Given the description of an element on the screen output the (x, y) to click on. 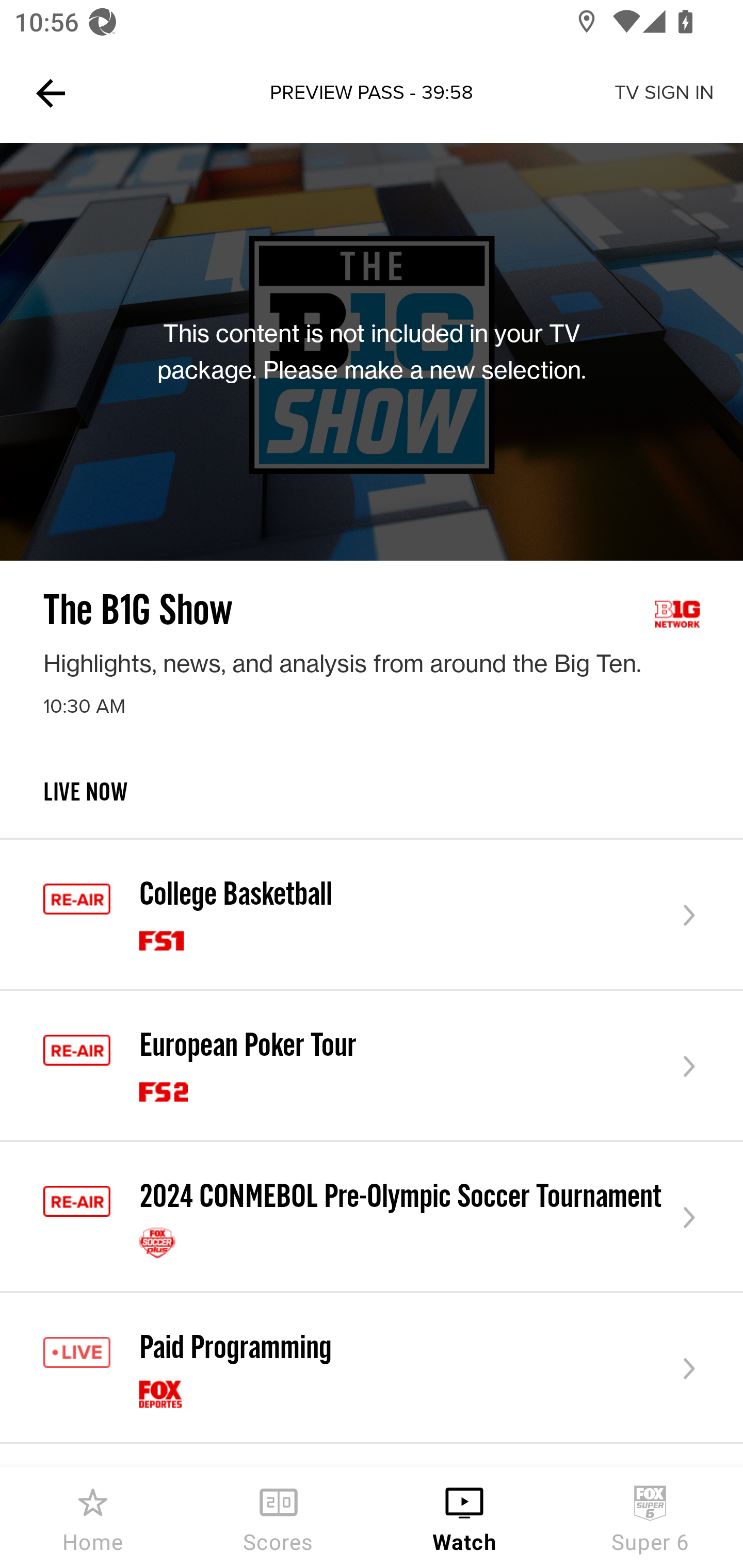
Navigate up (50, 92)
TV SIGN IN (664, 93)
LIVE NOW (371, 808)
College Basketball (371, 915)
European Poker Tour (371, 1065)
2024 CONMEBOL Pre-Olympic Soccer Tournament (371, 1217)
Paid Programming (371, 1368)
Home (92, 1517)
Scores (278, 1517)
Super 6 (650, 1517)
